Given the description of an element on the screen output the (x, y) to click on. 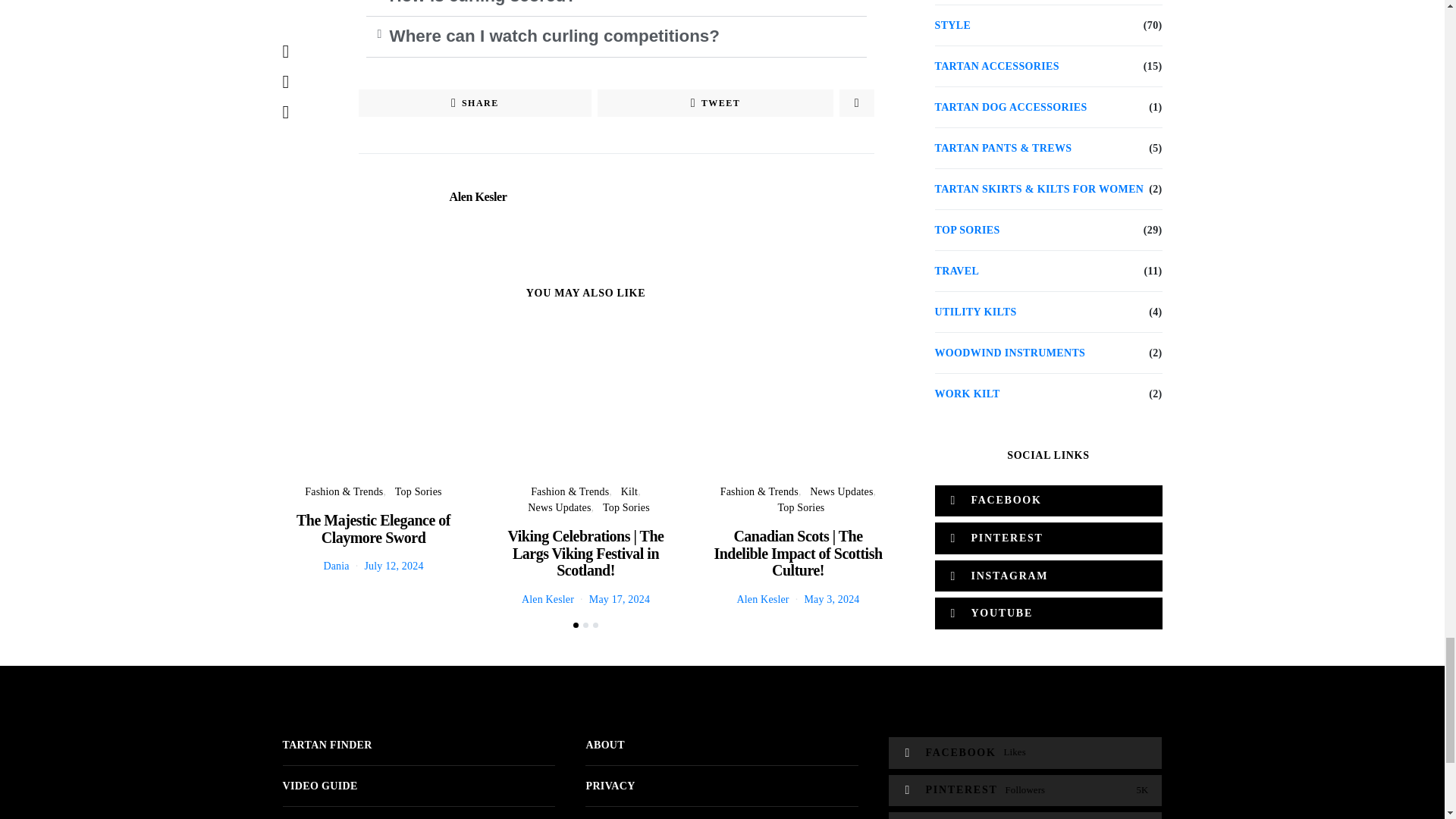
View all posts by Alen Kesler (547, 599)
View all posts by Alen Kesler (762, 599)
View all posts by Dania (336, 565)
